Given the description of an element on the screen output the (x, y) to click on. 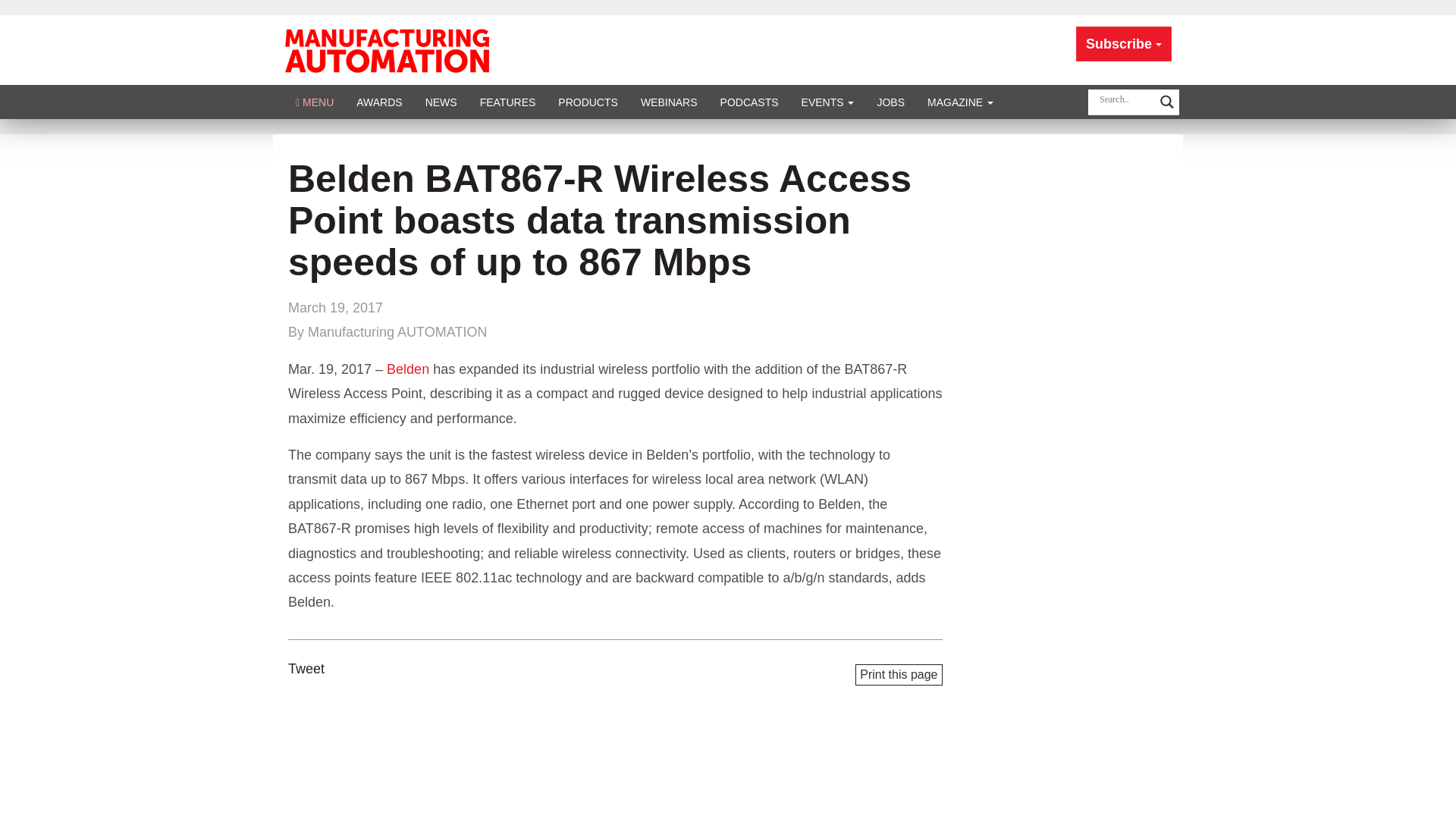
PODCASTS (749, 101)
MENU (314, 101)
NEWS (440, 101)
EVENTS (828, 101)
Subscribe (1123, 43)
WEBINARS (668, 101)
MAGAZINE (959, 101)
PRODUCTS (587, 101)
AWARDS (379, 101)
Manufacturing AUTOMATION (386, 48)
JOBS (889, 101)
Click to show site navigation (314, 101)
FEATURES (507, 101)
